Given the description of an element on the screen output the (x, y) to click on. 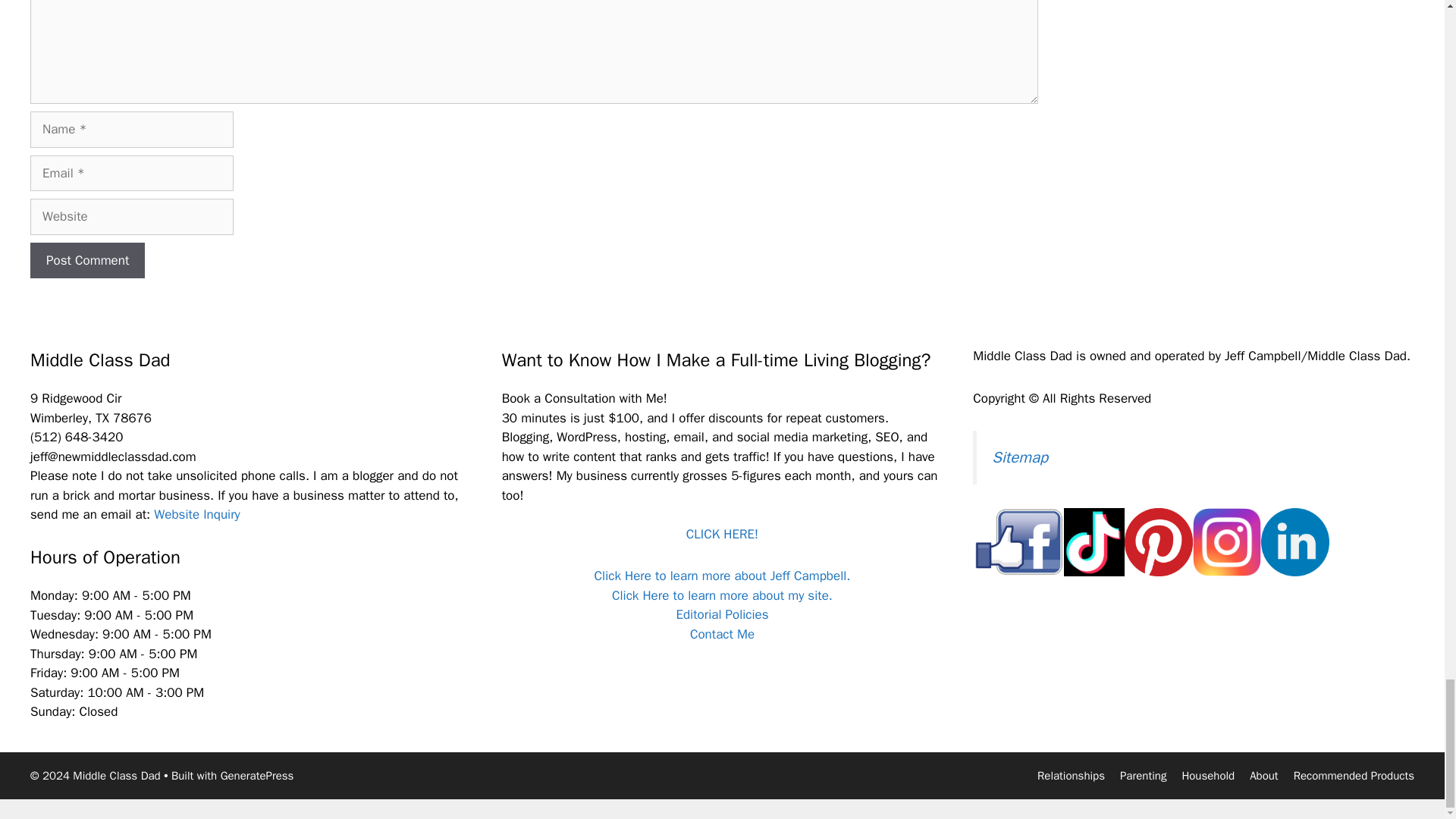
Post Comment (87, 260)
